Given the description of an element on the screen output the (x, y) to click on. 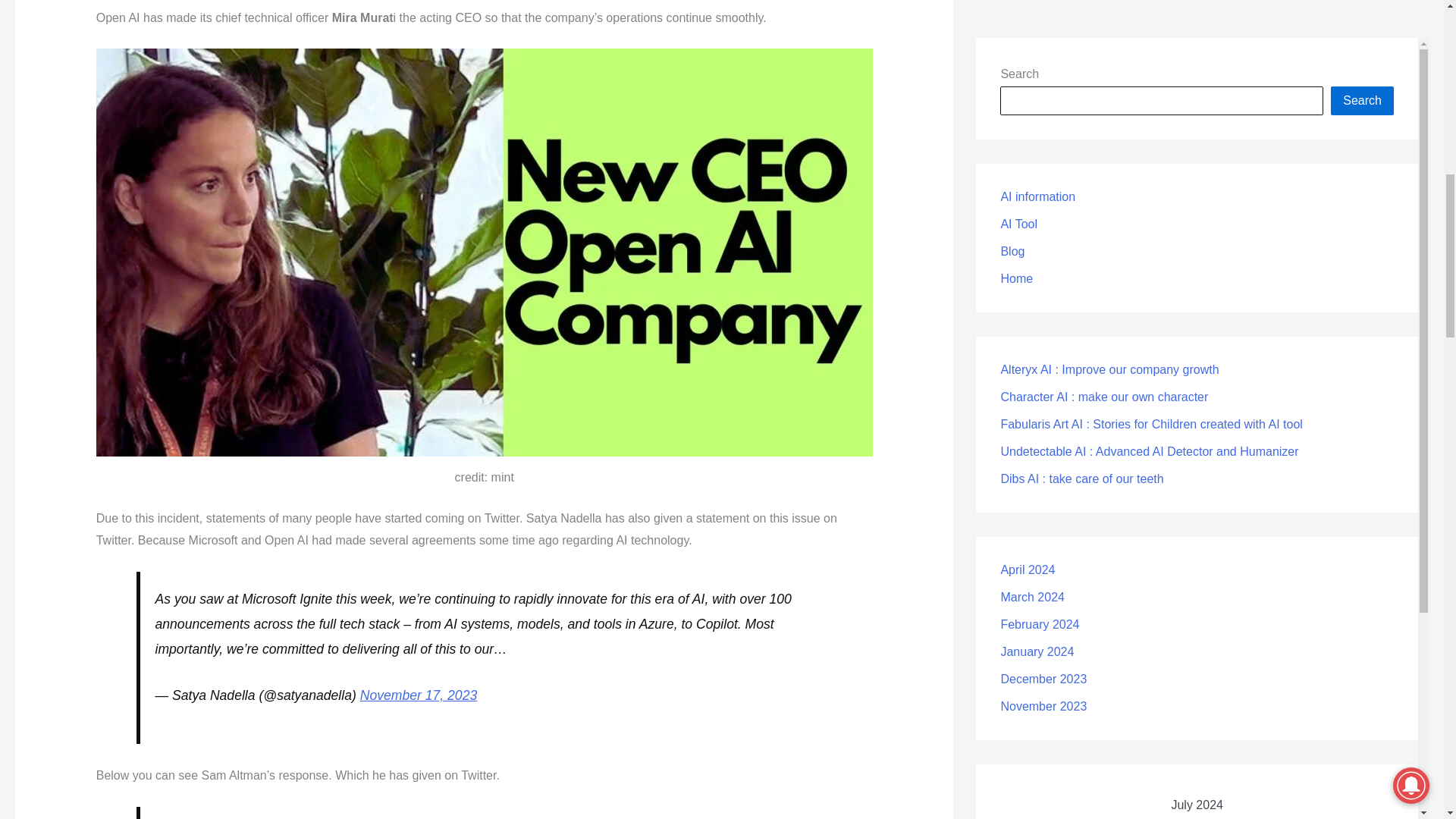
Tuesday (1085, 98)
Saturday (1309, 98)
Thursday (1197, 98)
Monday (1029, 98)
November 17, 2023 (418, 694)
Friday (1253, 98)
Wednesday (1141, 98)
Sunday (1365, 98)
